Given the description of an element on the screen output the (x, y) to click on. 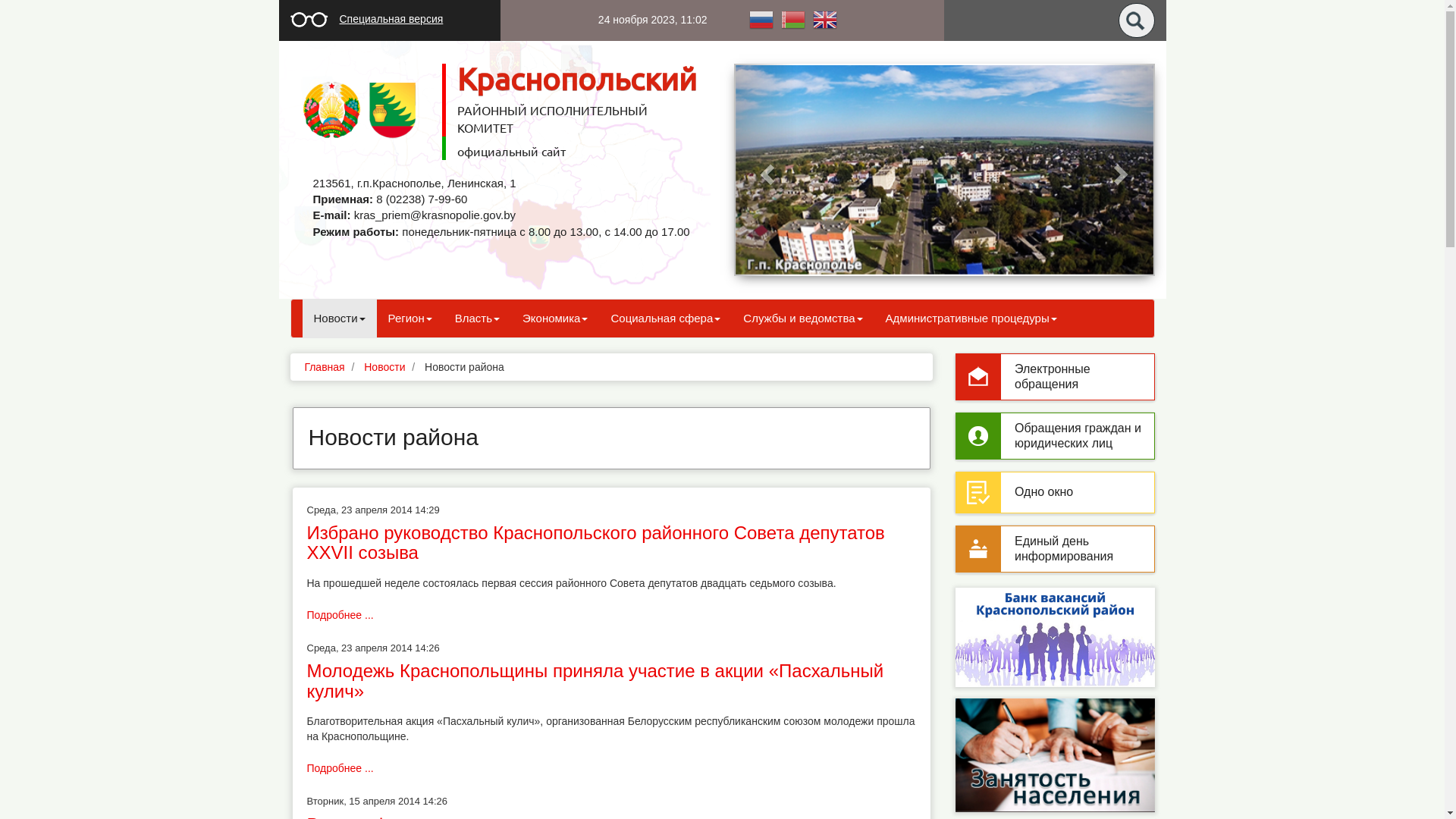
Belarusian Element type: hover (792, 18)
English Element type: hover (824, 18)
Russian Element type: hover (760, 18)
